Given the description of an element on the screen output the (x, y) to click on. 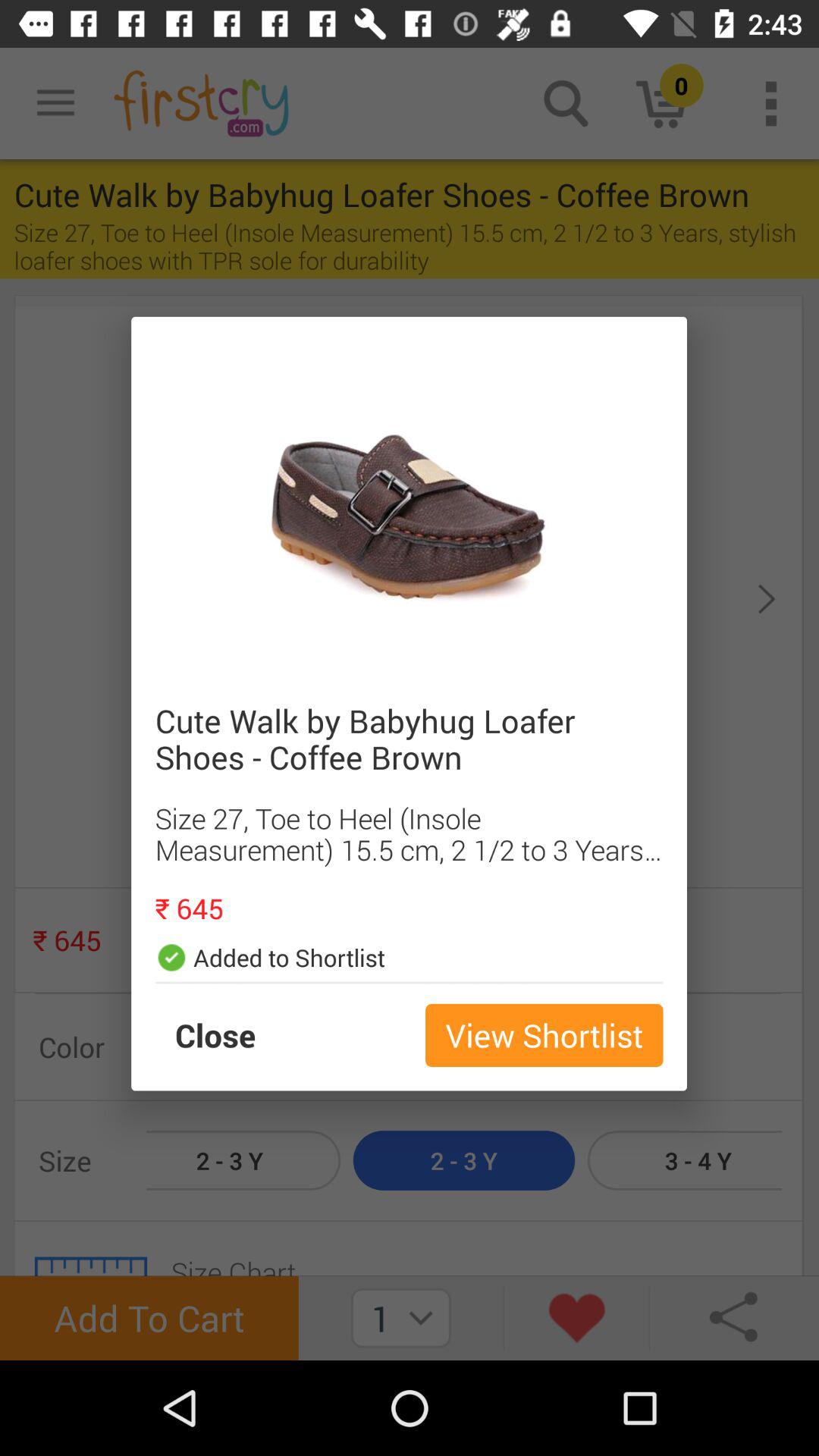
tap the item next to the view shortlist (231, 1034)
